Given the description of an element on the screen output the (x, y) to click on. 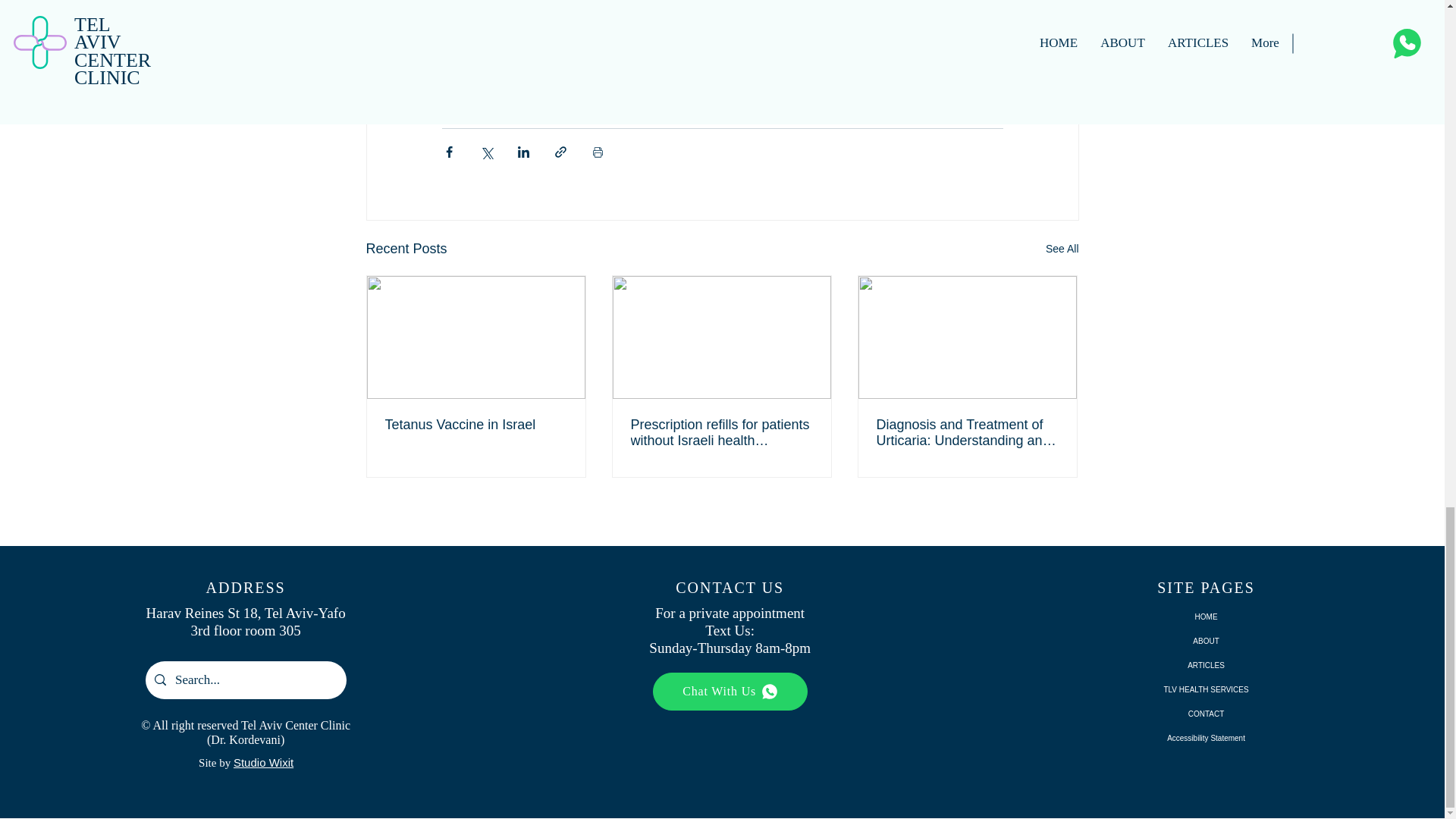
Accessibility Statement (1206, 738)
Chat With Us (730, 691)
HOME (1206, 617)
Tetanus Vaccine in Israel (476, 424)
ABOUT (1206, 641)
ARTICLES (1206, 665)
CONTACT (1206, 713)
TLV HEALTH SERVICES (1206, 689)
